Given the description of an element on the screen output the (x, y) to click on. 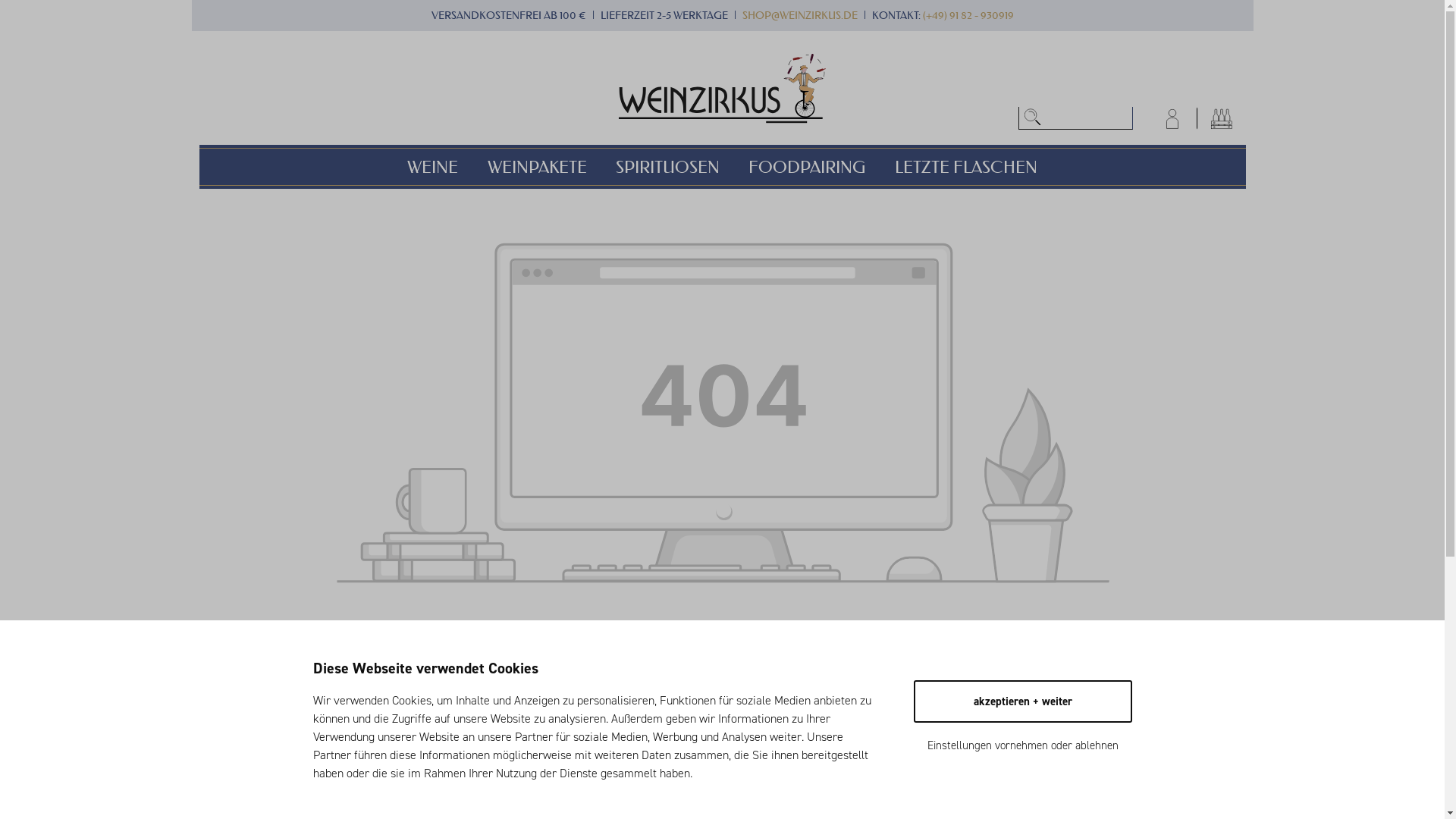
WEINPAKETE Element type: text (551, 166)
SPIRITUOSEN Element type: text (681, 166)
Einstellungen vornehmen oder ablehnen Element type: text (1022, 745)
FOODPAIRING Element type: text (821, 166)
Warenkorb Element type: hover (1220, 117)
Zur Startseite wechseln Element type: hover (721, 87)
WEINE Element type: text (446, 166)
akzeptieren + weiter Element type: text (1022, 701)
RECHTLICHES Element type: text (420, 793)
SHOP@WEINZIRKUS.DE Element type: text (798, 15)
LETZTE FLASCHEN Element type: text (965, 166)
Mein Konto Element type: hover (1172, 117)
(+49) 91 82 - 930919 Element type: text (967, 15)
